Given the description of an element on the screen output the (x, y) to click on. 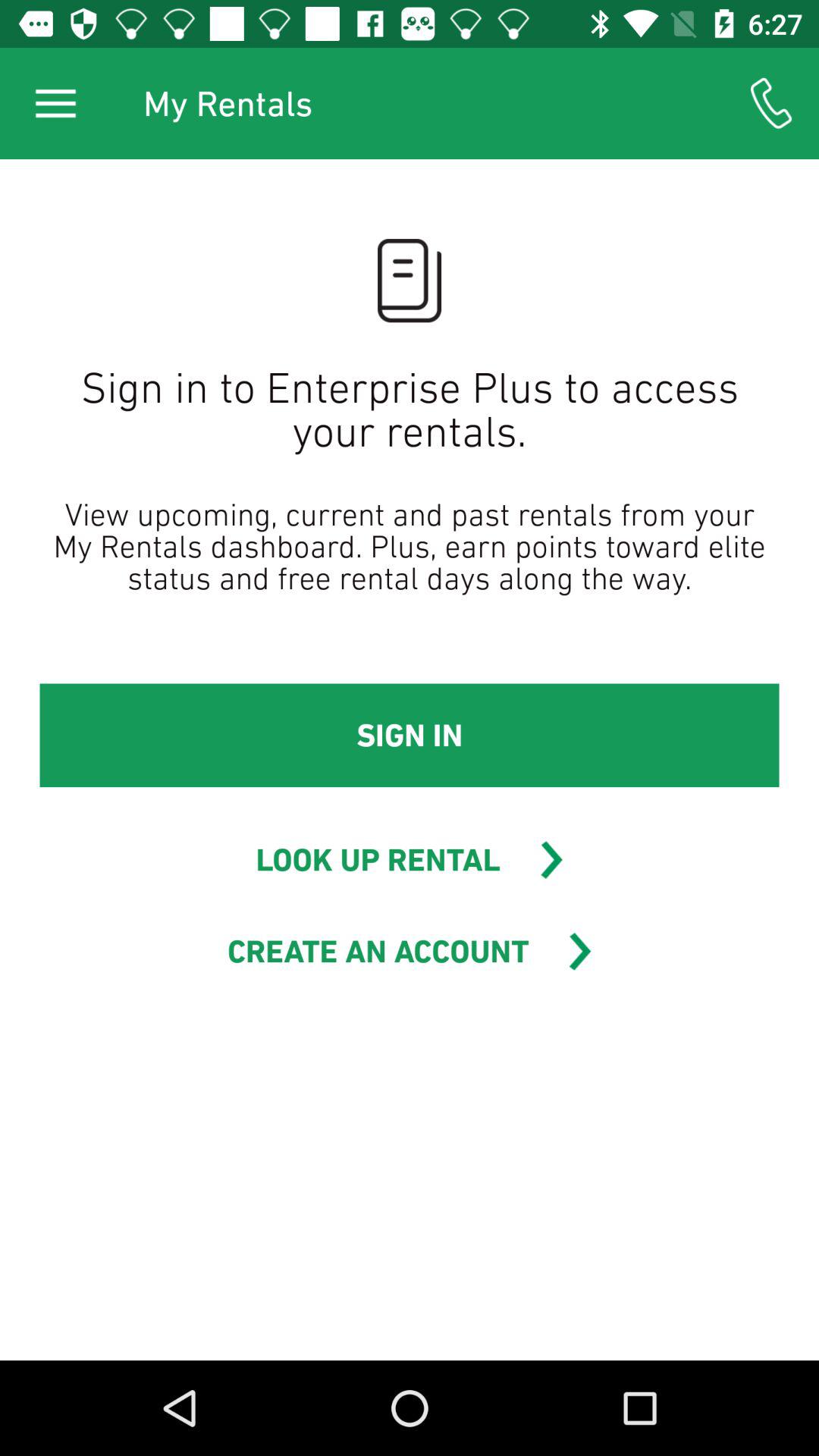
launch create an account item (377, 951)
